Given the description of an element on the screen output the (x, y) to click on. 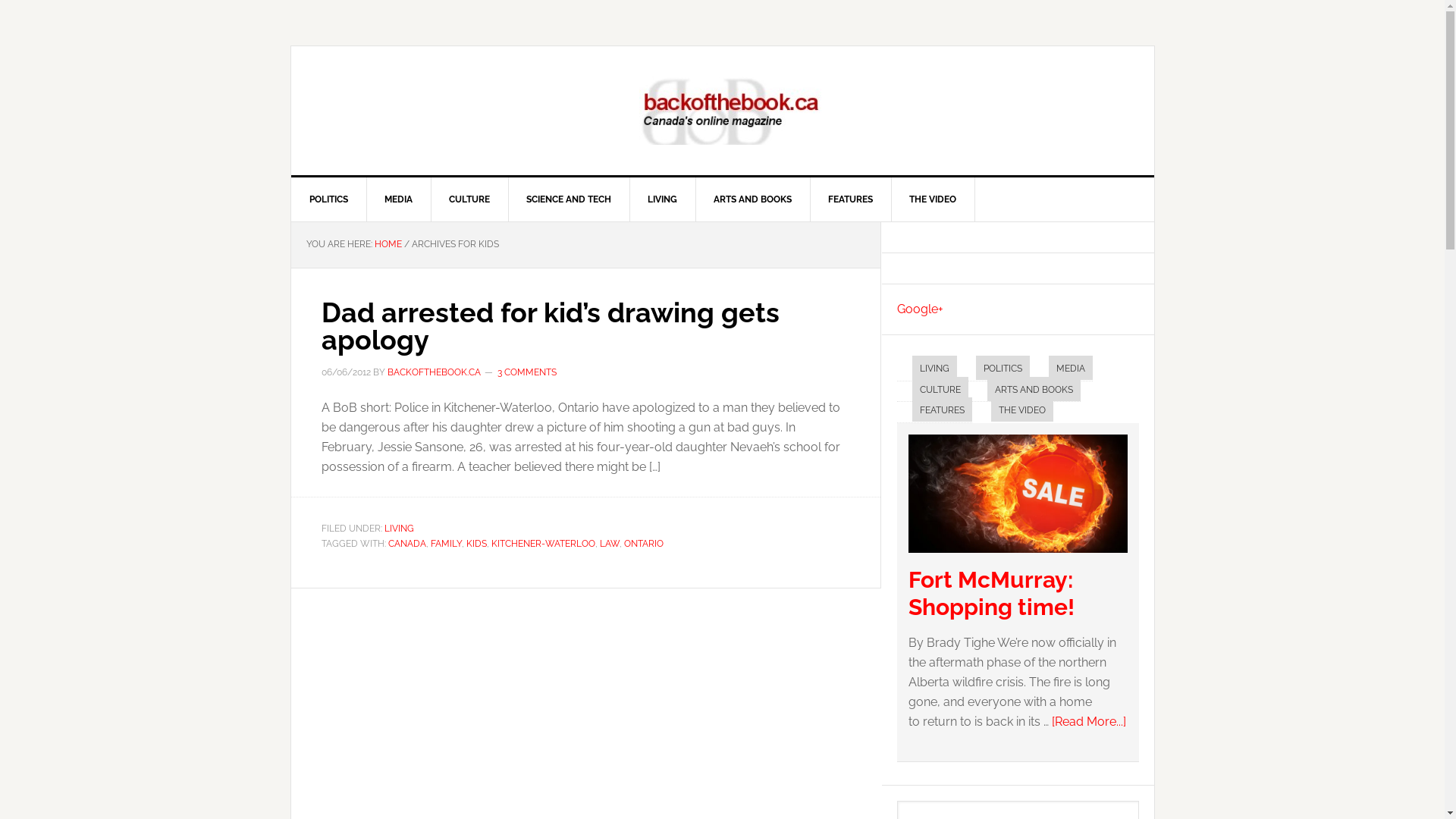
MEDIA Element type: text (397, 199)
THE VIDEO Element type: text (932, 199)
KIDS Element type: text (475, 543)
Google+ Element type: text (919, 308)
CULTURE Element type: text (469, 199)
3 COMMENTS Element type: text (526, 372)
KITCHENER-WATERLOO Element type: text (543, 543)
ONTARIO Element type: text (642, 543)
FAMILY Element type: text (445, 543)
FEATURES Element type: text (941, 409)
LIVING Element type: text (933, 367)
Fort McMurray: Shopping time! Element type: hover (1017, 556)
POLITICS Element type: text (1002, 367)
ARTS AND BOOKS Element type: text (751, 199)
HOME Element type: text (387, 243)
THE VIDEO Element type: text (1021, 409)
CULTURE Element type: text (939, 388)
Fort McMurray: Shopping time! Element type: text (991, 593)
CANADA Element type: text (407, 543)
LIVING Element type: text (398, 528)
LIVING Element type: text (662, 199)
[Read More...] Element type: text (1088, 721)
ARTS AND BOOKS Element type: text (1033, 388)
LAW Element type: text (608, 543)
BACKOFTHEBOOK.CA Element type: text (433, 372)
FEATURES Element type: text (850, 199)
SCIENCE AND TECH Element type: text (569, 199)
MEDIA Element type: text (1070, 367)
POLITICS Element type: text (329, 199)
